Given the description of an element on the screen output the (x, y) to click on. 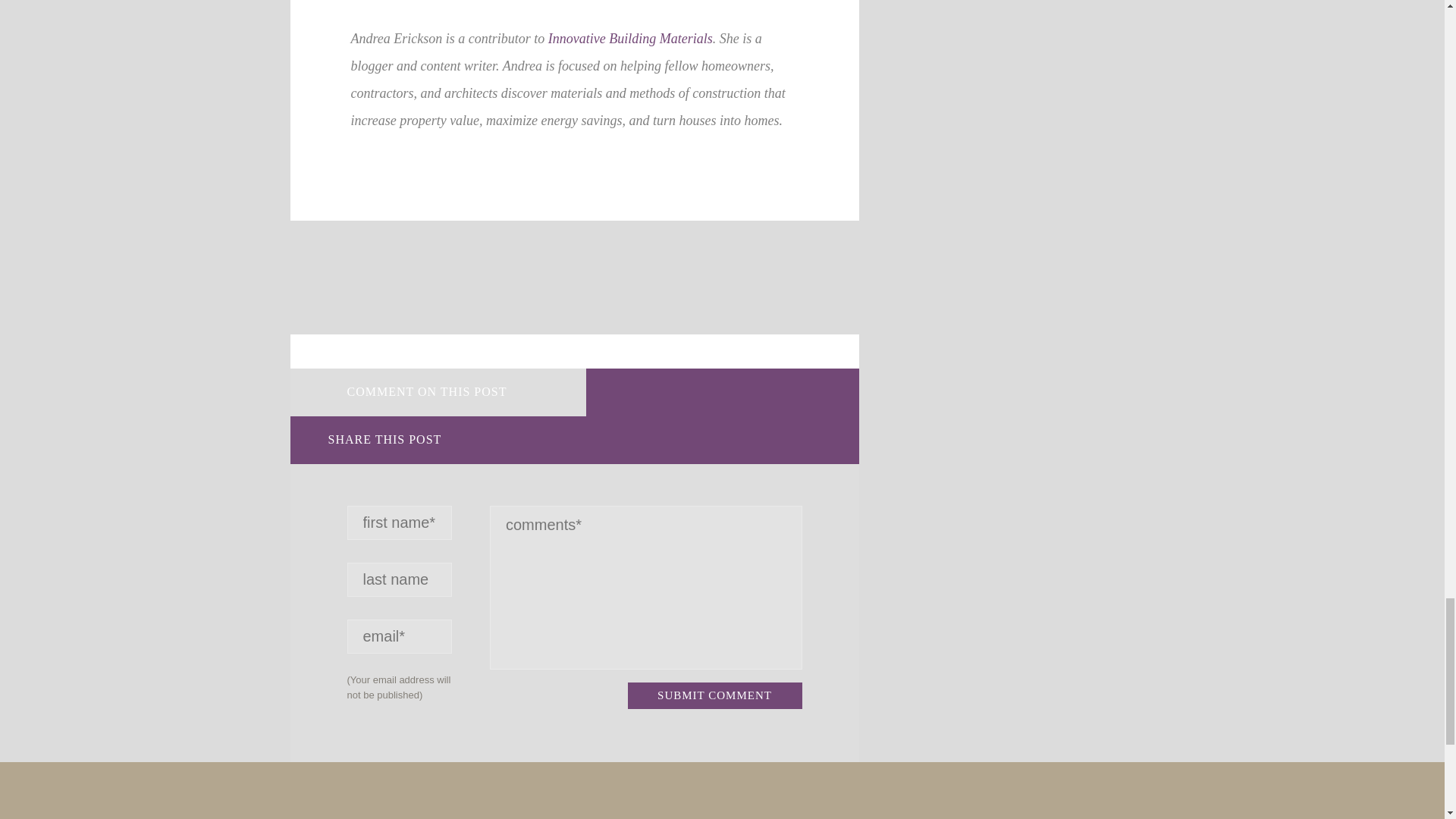
submit comment (714, 695)
Innovative Building Materials (630, 38)
SHARE THIS POST (437, 440)
submit comment (714, 695)
COMMENT ON THIS POST (437, 392)
